Given the description of an element on the screen output the (x, y) to click on. 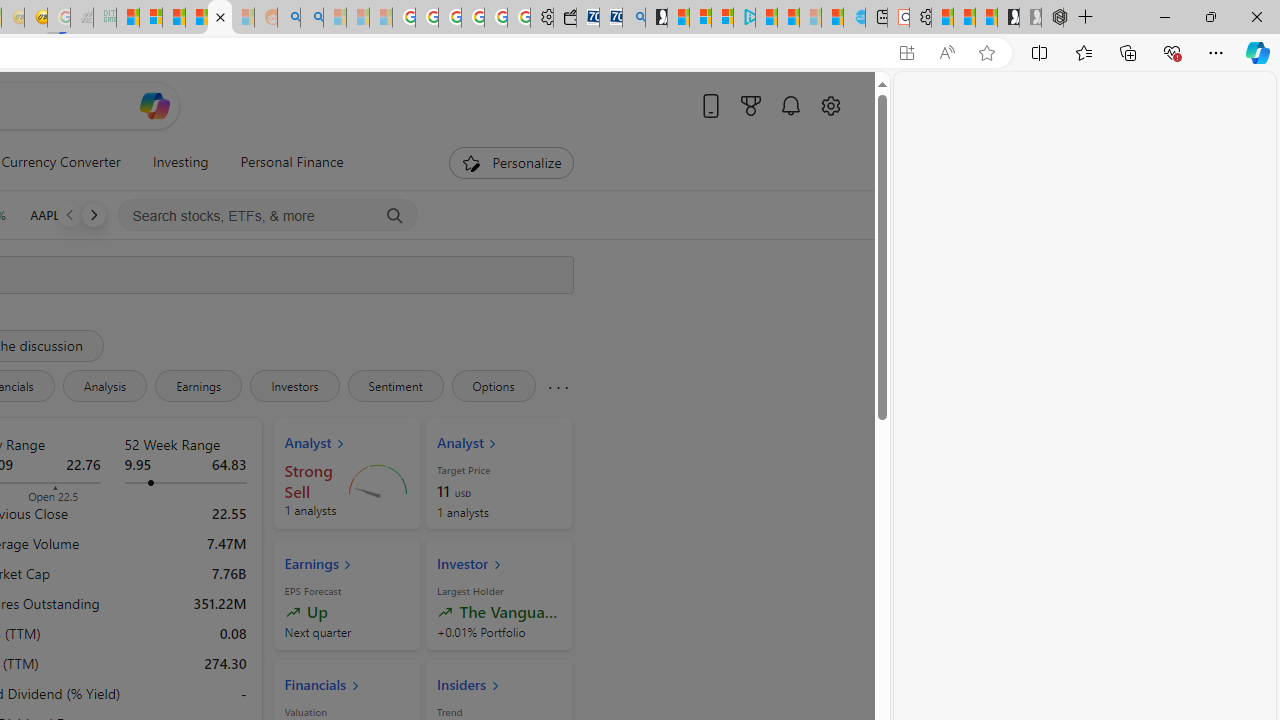
Earnings (198, 385)
Student Loan Update: Forgiveness Program Ends This Month (196, 17)
App available. Install Start Money (906, 53)
Personalize (511, 162)
Personal Finance (292, 162)
Play Free Online Games | Games from Microsoft Start (1008, 17)
Search stocks, ETFs, & more (267, 215)
Cheap Car Rentals - Save70.com (611, 17)
Nordace - Nordace Siena Is Not An Ordinary Backpack (1052, 17)
